Given the description of an element on the screen output the (x, y) to click on. 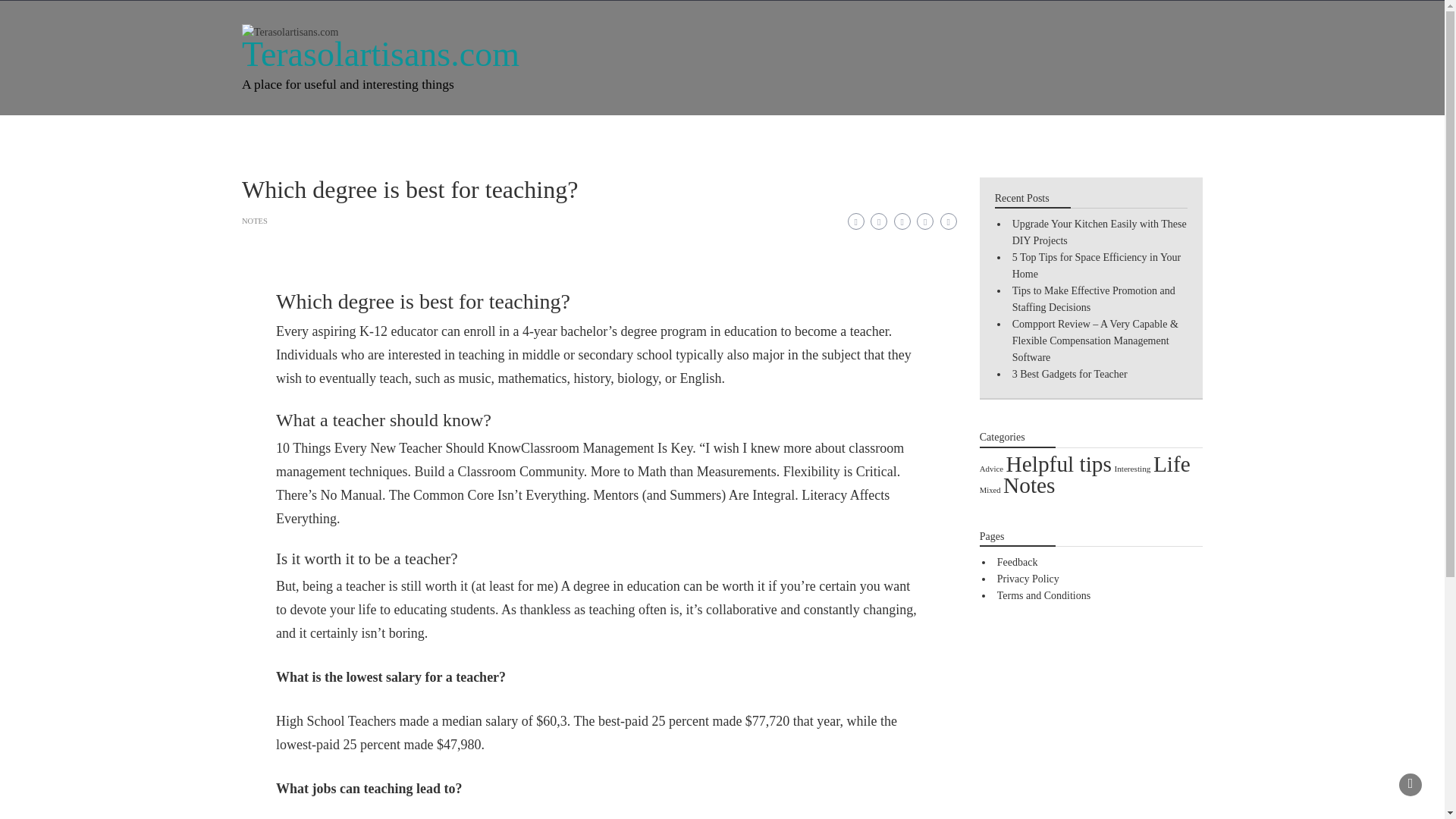
Mixed (602, 134)
Terasolartisans.com (380, 54)
Feedback (760, 134)
Tips to Make Effective Promotion and Staffing Decisions (1092, 298)
NOTES (254, 221)
Advice (536, 134)
5 Top Tips for Space Efficiency in Your Home (1095, 265)
Advice (991, 468)
Upgrade Your Kitchen Easily with These DIY Projects (1098, 232)
Life (1172, 463)
